Given the description of an element on the screen output the (x, y) to click on. 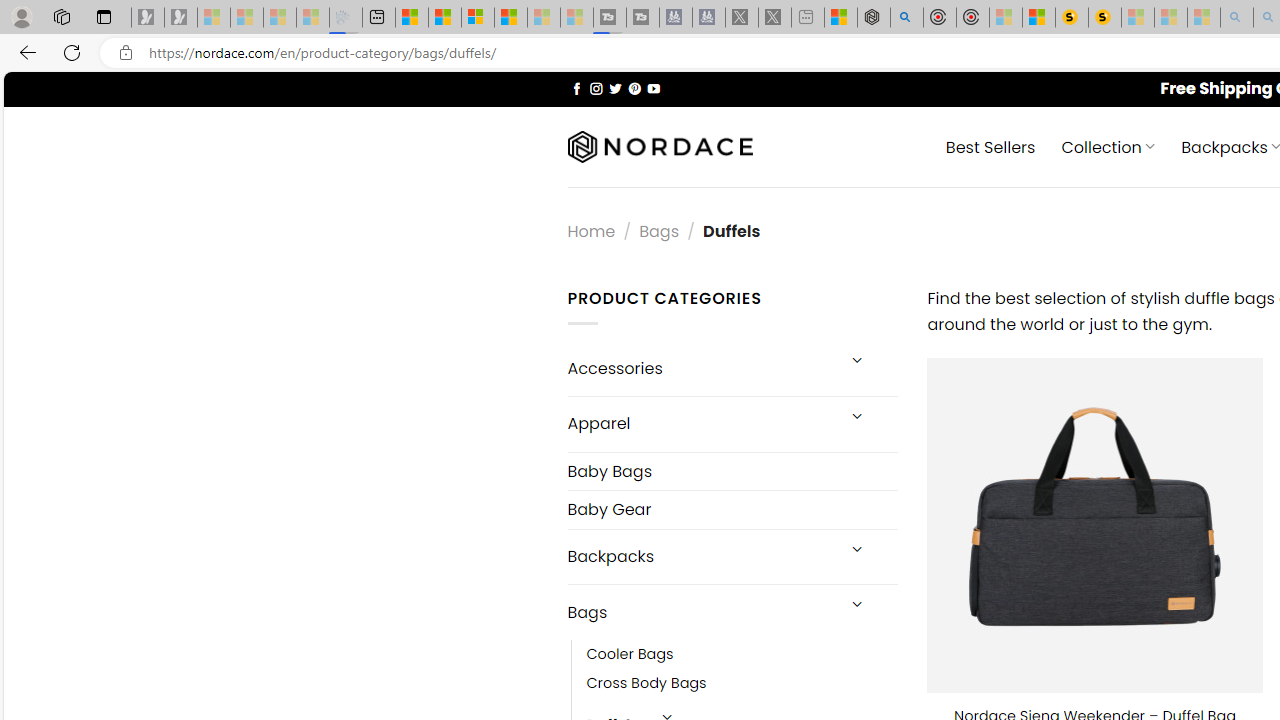
poe - Search (906, 17)
